Given the description of an element on the screen output the (x, y) to click on. 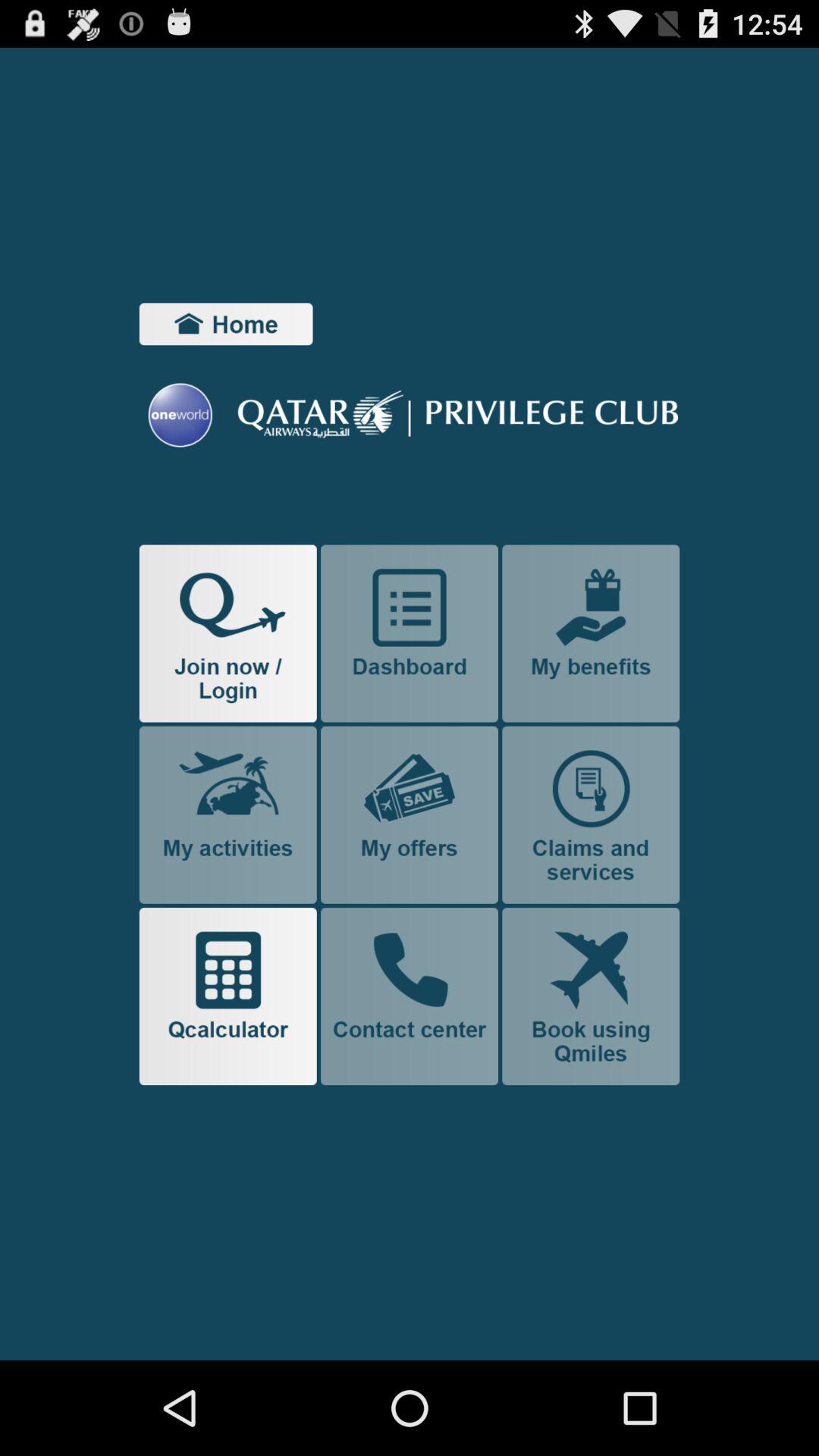
toggle the my offers button (409, 814)
